Given the description of an element on the screen output the (x, y) to click on. 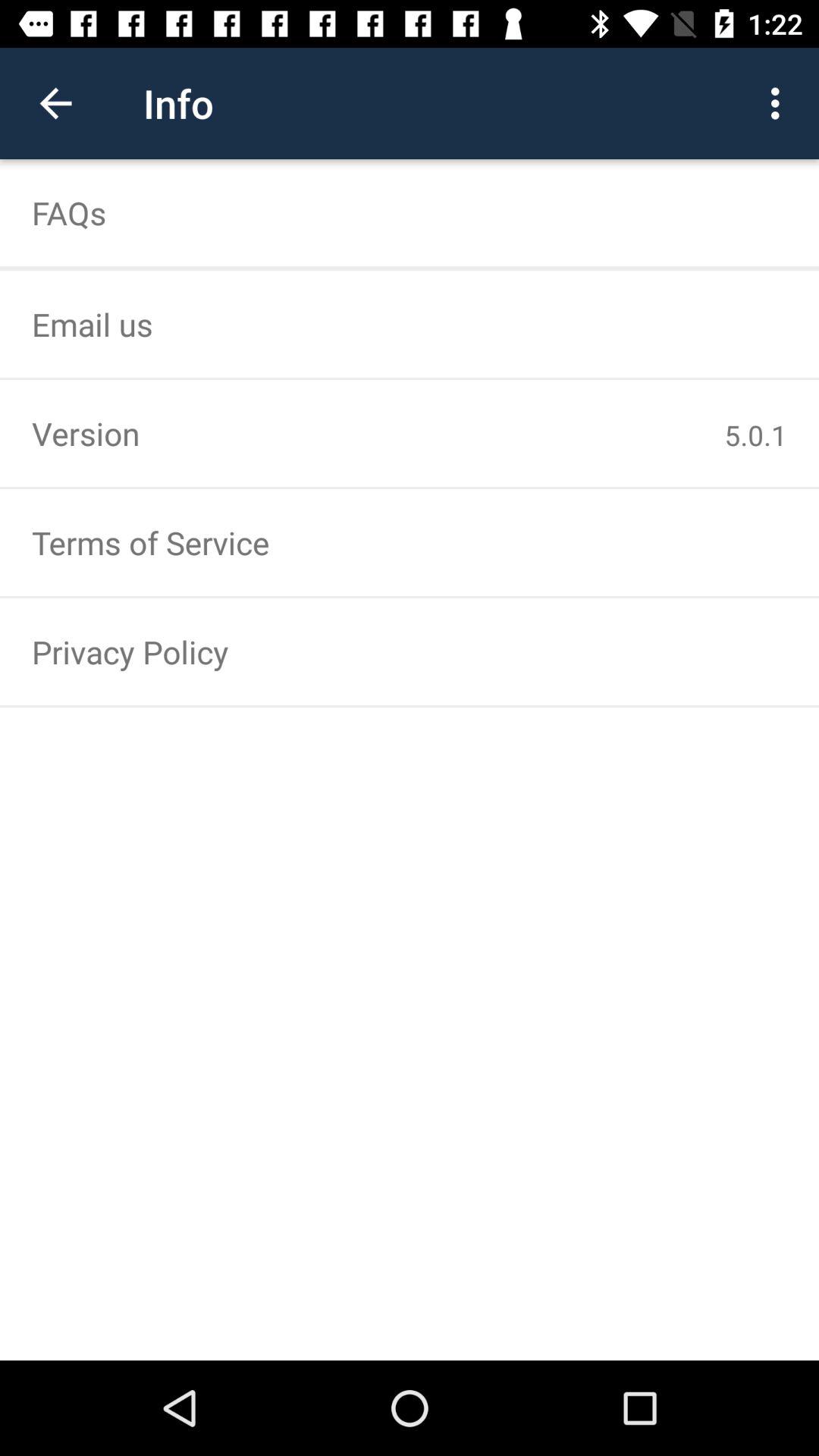
select the item to the right of the info icon (779, 103)
